Given the description of an element on the screen output the (x, y) to click on. 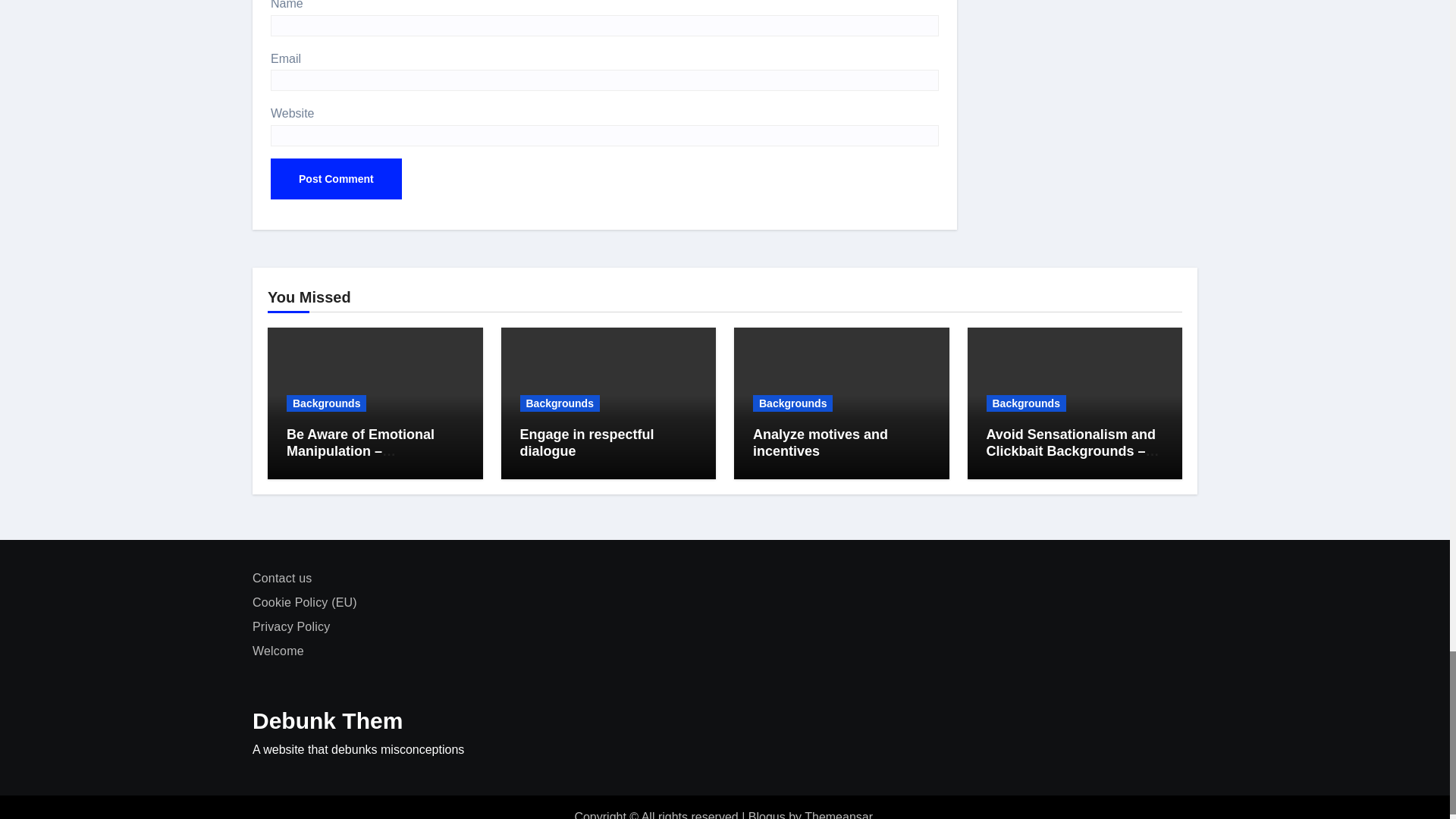
Post Comment (335, 178)
Permalink to: Analyze motives and incentives (820, 442)
Permalink to: Engage in respectful dialogue (586, 442)
